Given the description of an element on the screen output the (x, y) to click on. 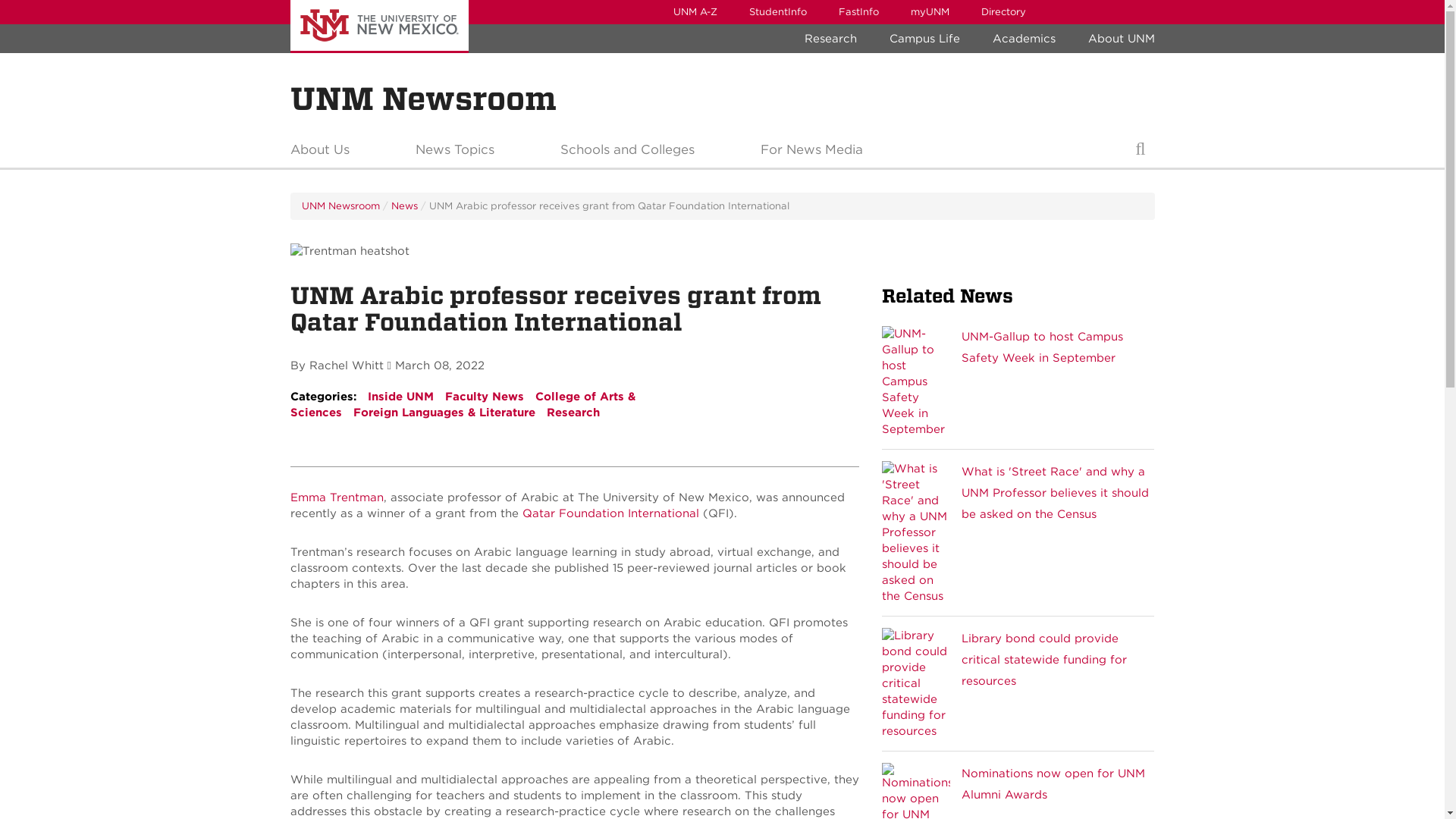
StudentInfo (777, 12)
Campus Life (924, 38)
myUNM (929, 12)
UNM Newsroom (422, 98)
FastInfo (858, 12)
Directory (1002, 12)
About UNM (1121, 38)
Toggle search (1139, 153)
Research (830, 38)
Academics (1024, 38)
